Given the description of an element on the screen output the (x, y) to click on. 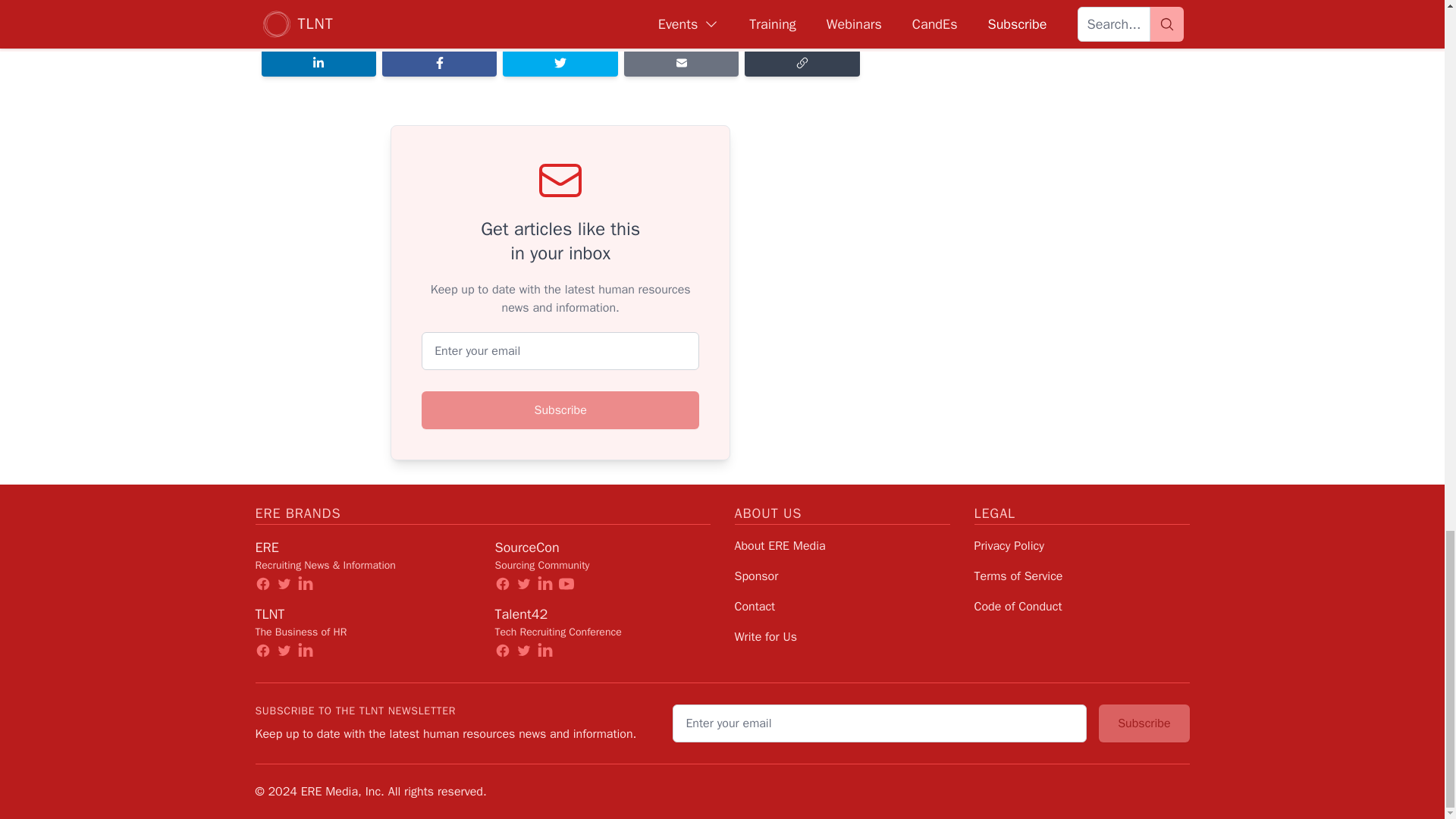
youtube (565, 583)
linkedin (305, 583)
facebook (261, 583)
Subscribe (560, 410)
twitter (283, 650)
SourceCon (527, 547)
facebook (261, 650)
twitter (523, 583)
federal contractor deadlines (540, 16)
ERE (266, 547)
